Given the description of an element on the screen output the (x, y) to click on. 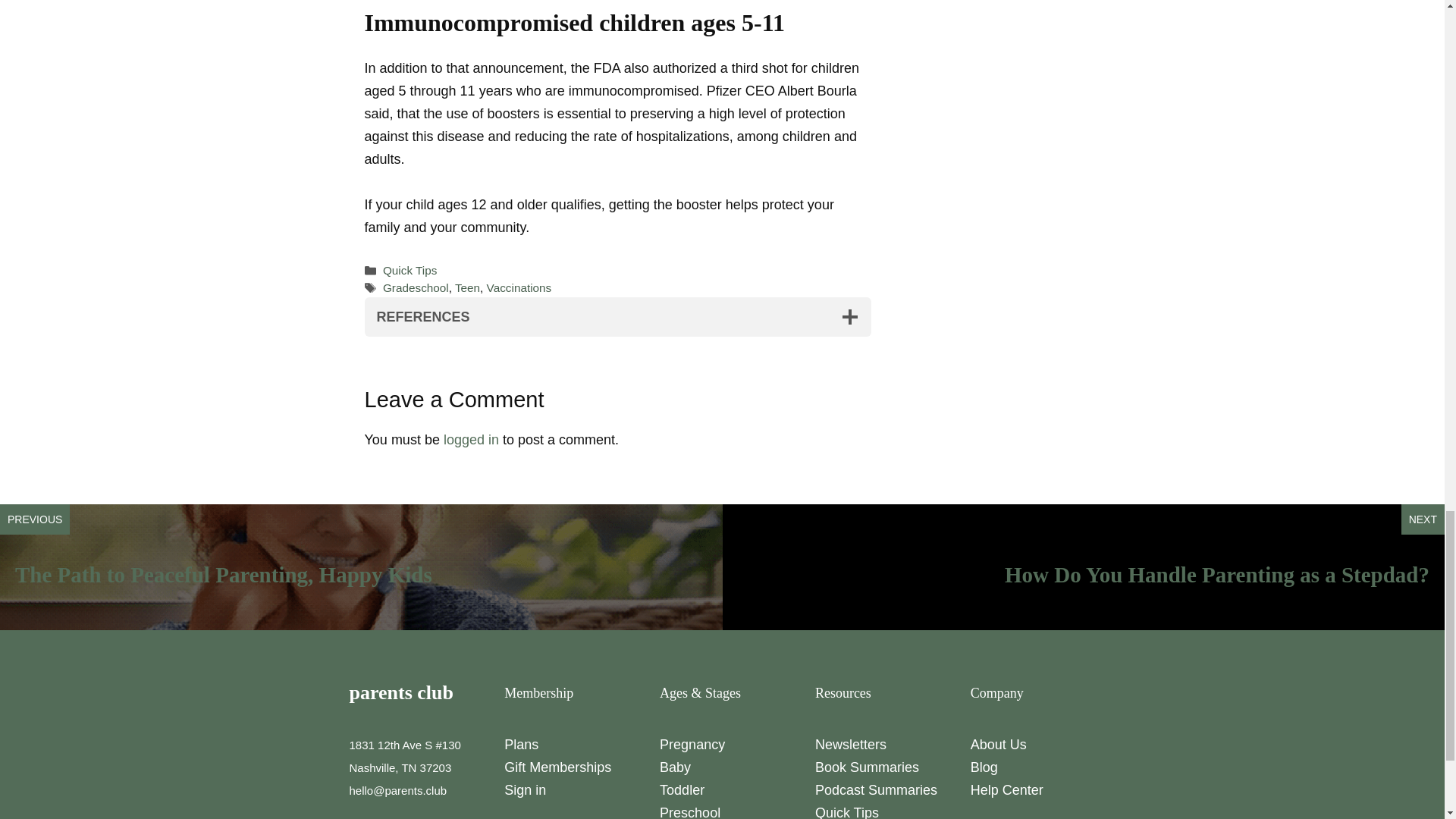
How Do You Handle Parenting as a Stepdad? (1216, 574)
REFERENCES (617, 316)
The Path to Peaceful Parenting, Happy Kids (223, 574)
Teen (467, 287)
Pregnancy (692, 744)
Toddler (681, 789)
Plans (520, 744)
Sign in (524, 789)
Baby (674, 767)
Vaccinations (518, 287)
